Given the description of an element on the screen output the (x, y) to click on. 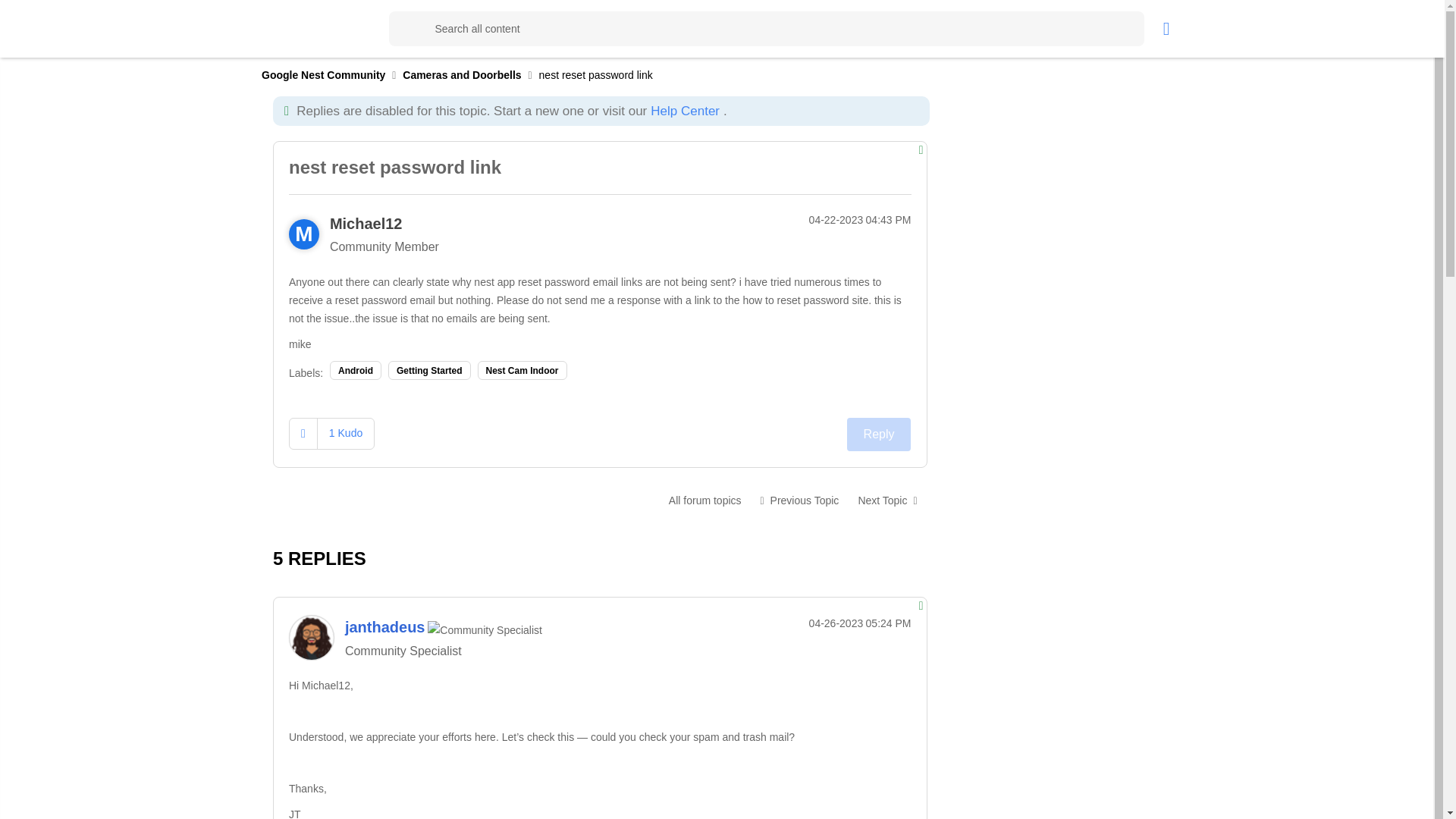
Google Nest Community (342, 28)
Getting Started (429, 370)
All forum topics (705, 500)
Cameras and Doorbells (705, 500)
1 Kudo (345, 432)
Click here to see who gave kudos to this post. (345, 432)
Search (405, 29)
Android (355, 370)
Google Nest Wired Camera (799, 500)
Nest Cam Indoor (522, 370)
